Given the description of an element on the screen output the (x, y) to click on. 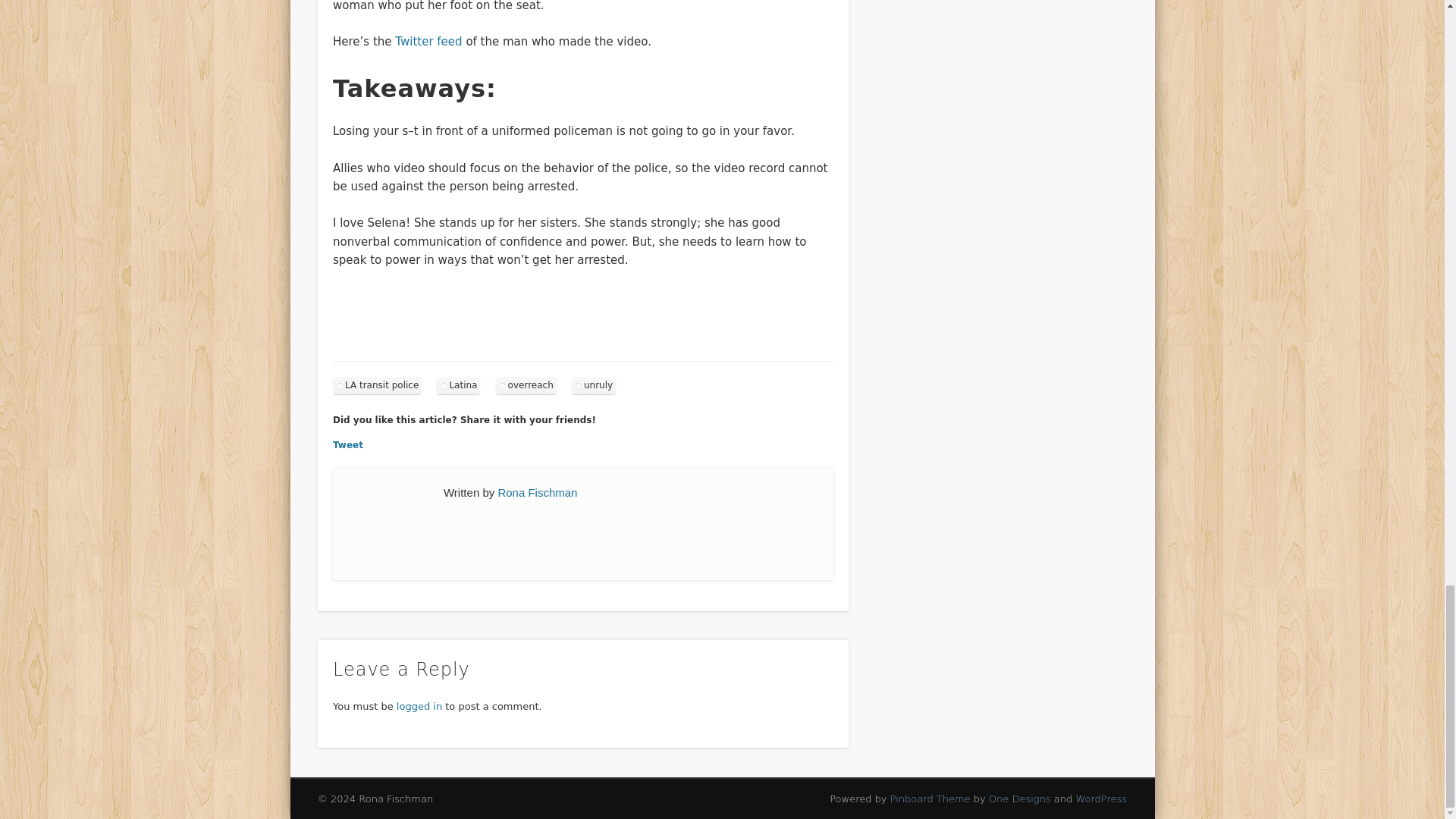
Rona Fischman (536, 492)
logged in (419, 706)
Twitter feed (427, 41)
Posts by Rona Fischman (536, 492)
LA transit police (377, 384)
Tweet (347, 444)
WordPress (1100, 798)
overreach (526, 384)
Pinboard Theme (930, 798)
One Designs (1019, 798)
